Given the description of an element on the screen output the (x, y) to click on. 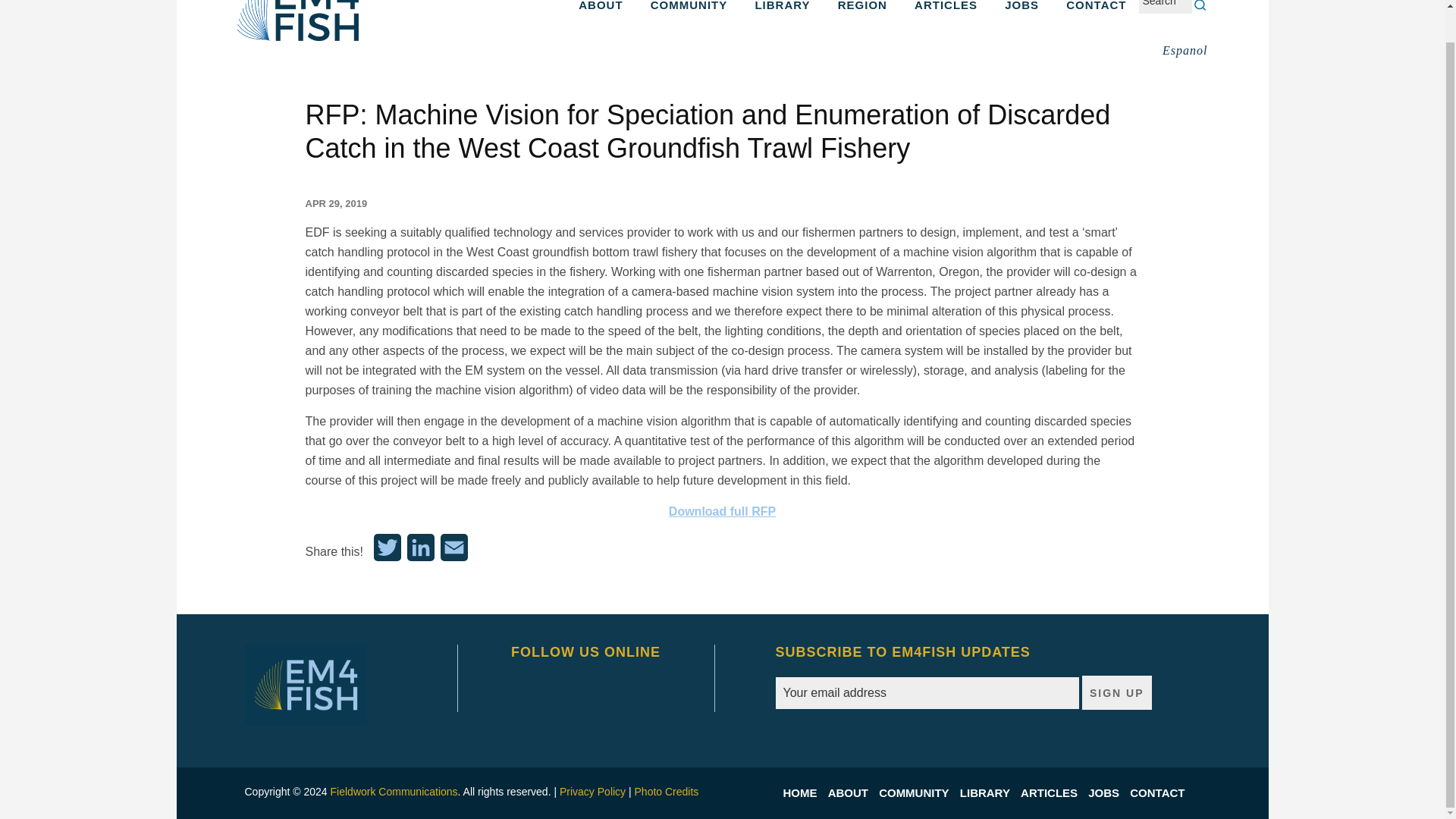
CONTACT (1160, 793)
JOBS (1106, 793)
HOME (803, 793)
ABOUT (852, 793)
Sign up (1116, 692)
Twitter (387, 551)
Espanol (1184, 50)
Search (1199, 4)
ARTICLES (946, 18)
Photo Credits (666, 791)
Email (454, 551)
Search (1199, 4)
Fieldwork Communications (394, 791)
Twitter (387, 551)
CONTACT (1096, 18)
